Given the description of an element on the screen output the (x, y) to click on. 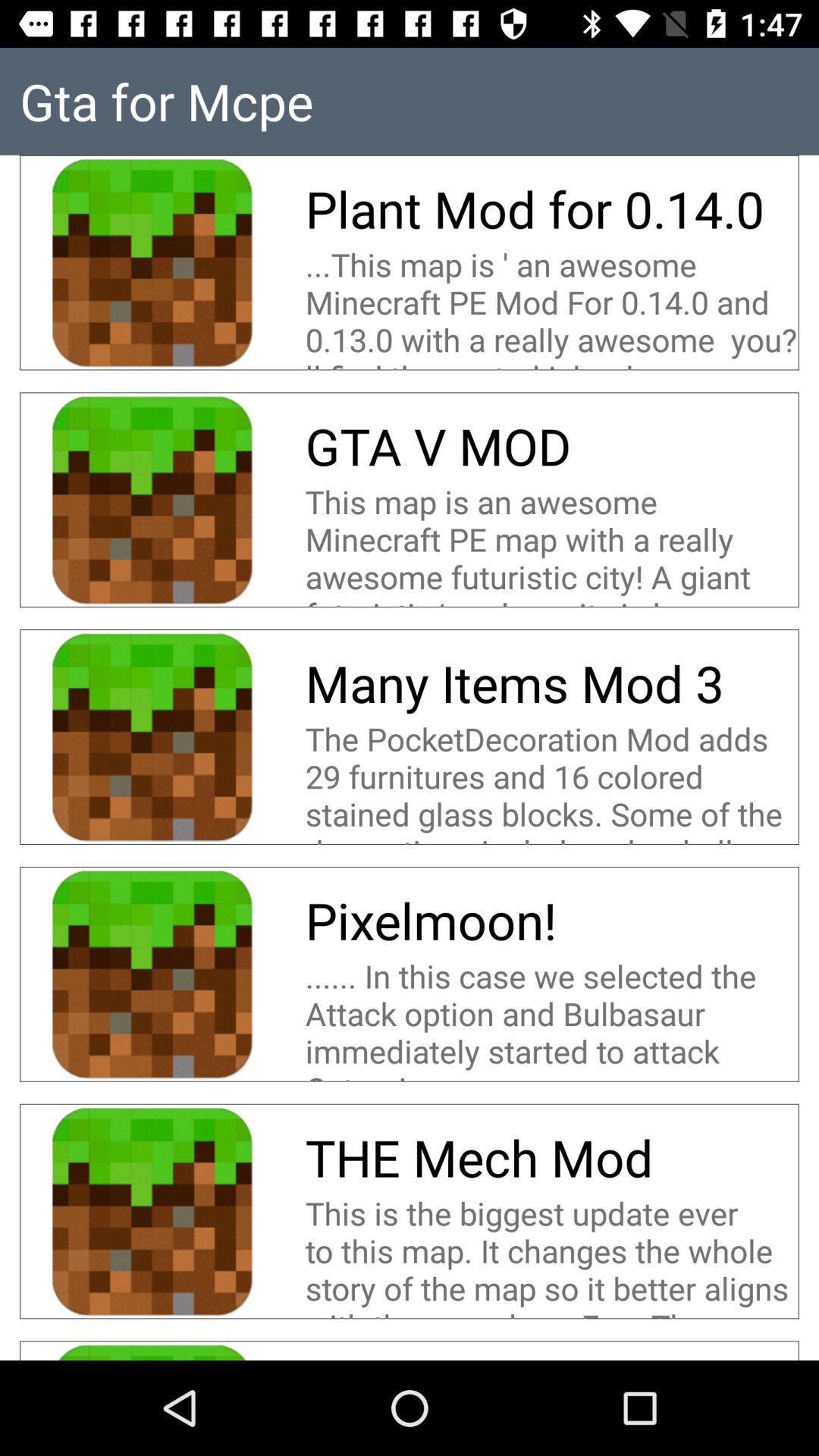
swipe to the the pocketdecoration mod app (552, 780)
